Given the description of an element on the screen output the (x, y) to click on. 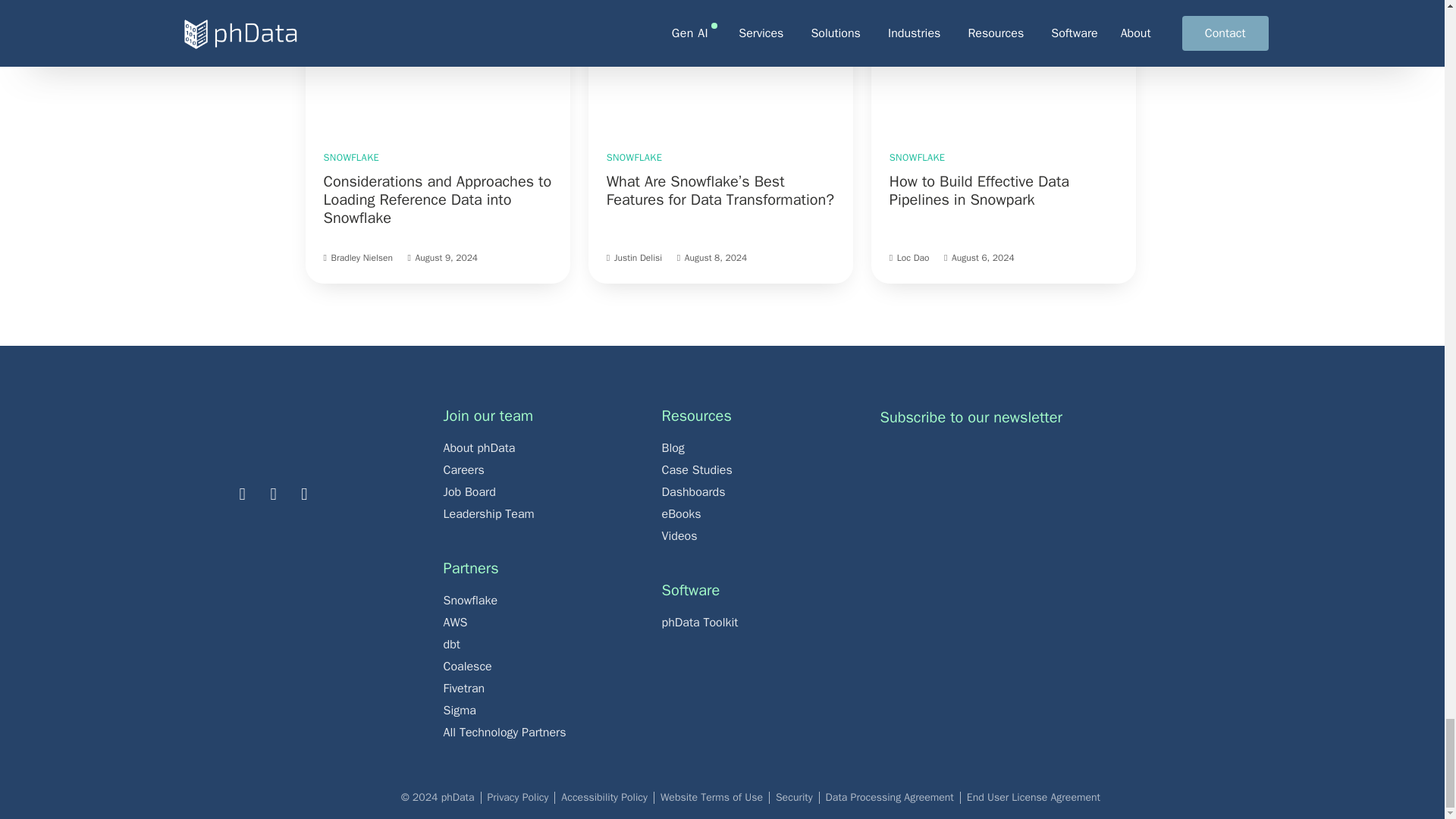
Posts by Bradley Nielsen (360, 257)
Posts by Loc Dao (913, 257)
Posts by Justin Delisi (638, 257)
